Given the description of an element on the screen output the (x, y) to click on. 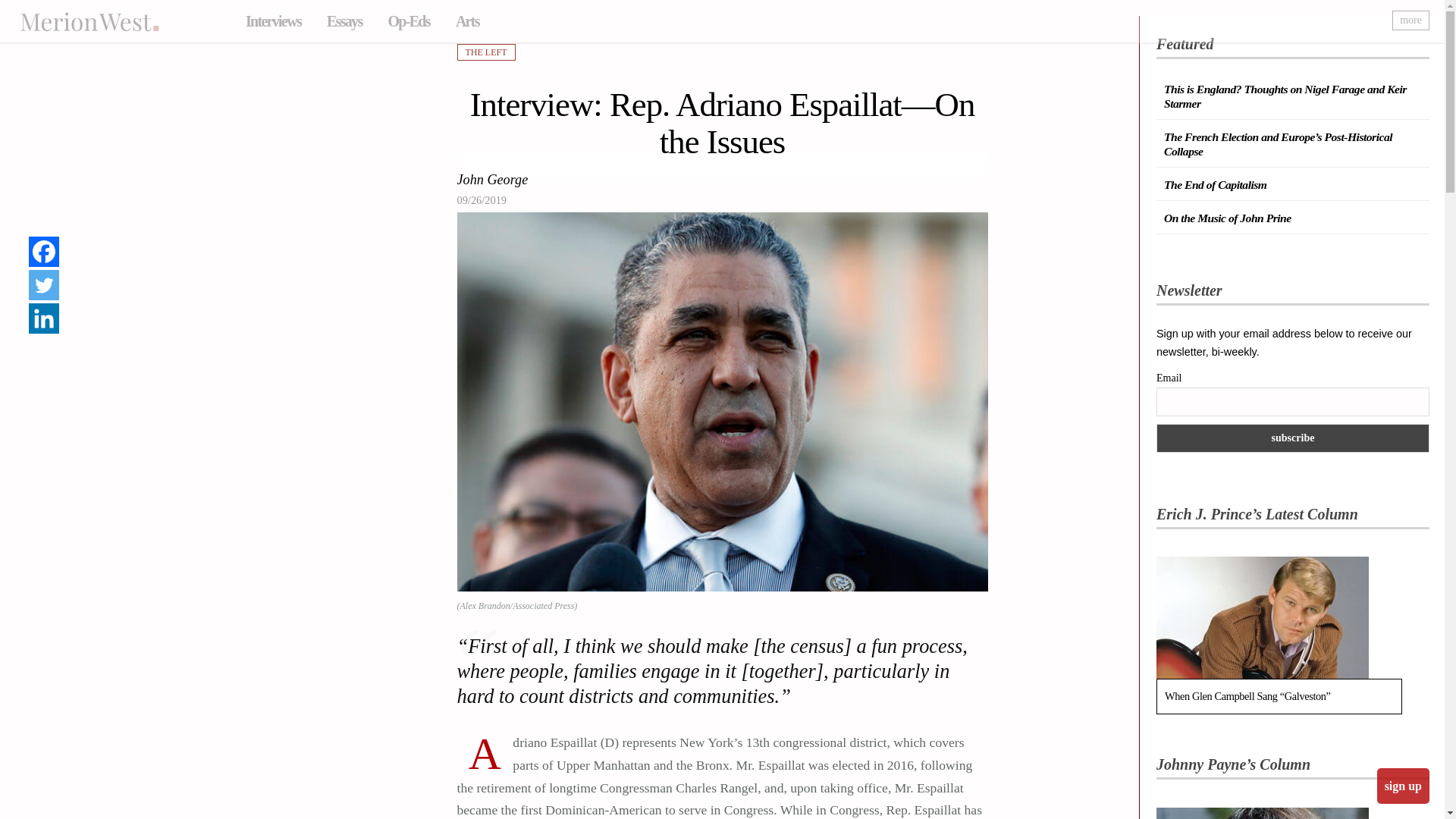
Op-Eds (408, 21)
Subscribe (1292, 438)
Linkedin (44, 318)
Twitter (44, 285)
Arts (467, 21)
The End of Capitalism (1214, 184)
Subscribe (1292, 438)
Essays (344, 21)
All posts by John George (492, 179)
Interviews (273, 21)
